Given the description of an element on the screen output the (x, y) to click on. 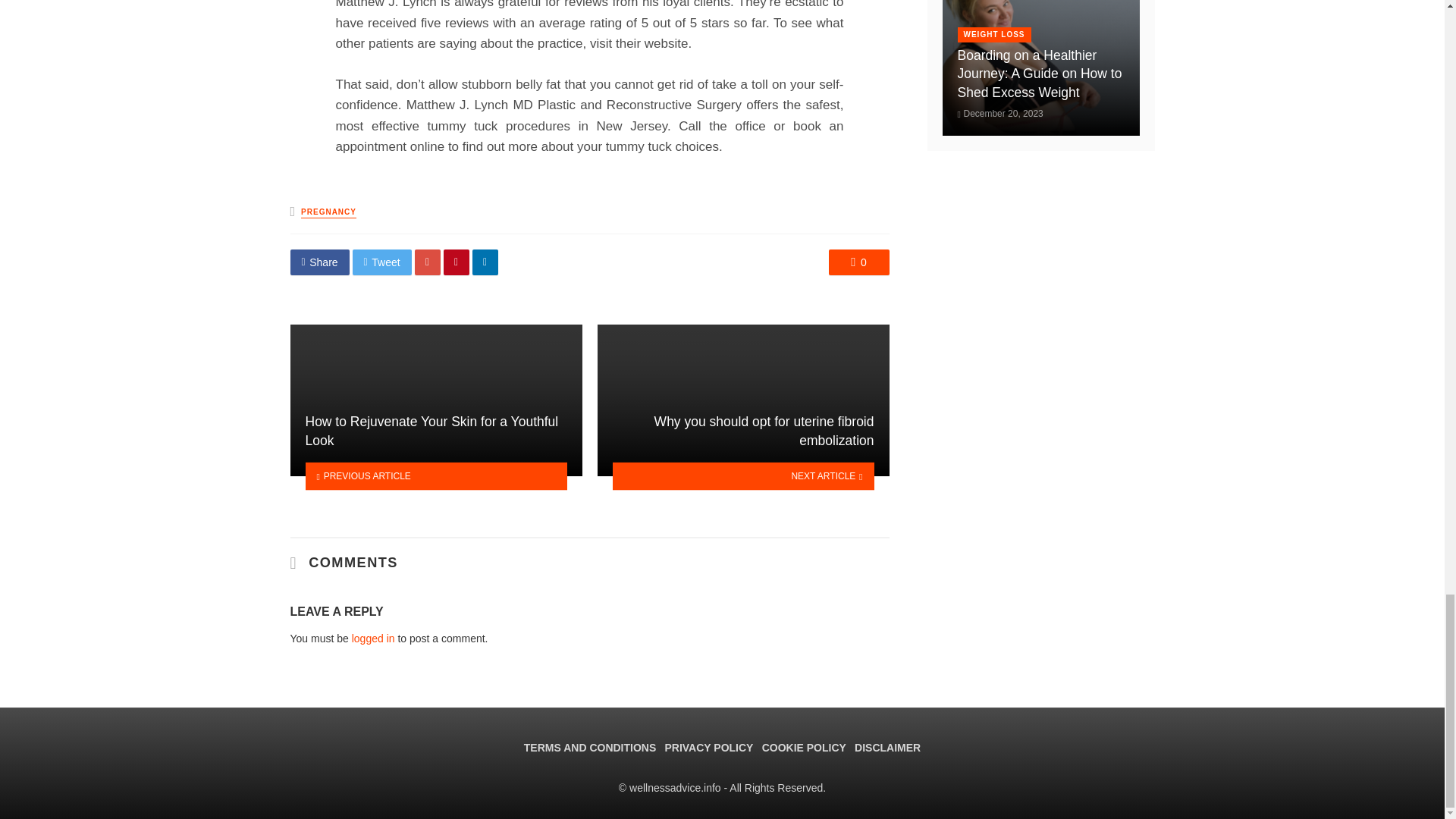
Share on Facebook (319, 262)
PREVIOUS ARTICLE (434, 476)
PREGNANCY (328, 212)
Share on Twitter (382, 262)
Share (319, 262)
0 (858, 262)
Tweet (382, 262)
